Given the description of an element on the screen output the (x, y) to click on. 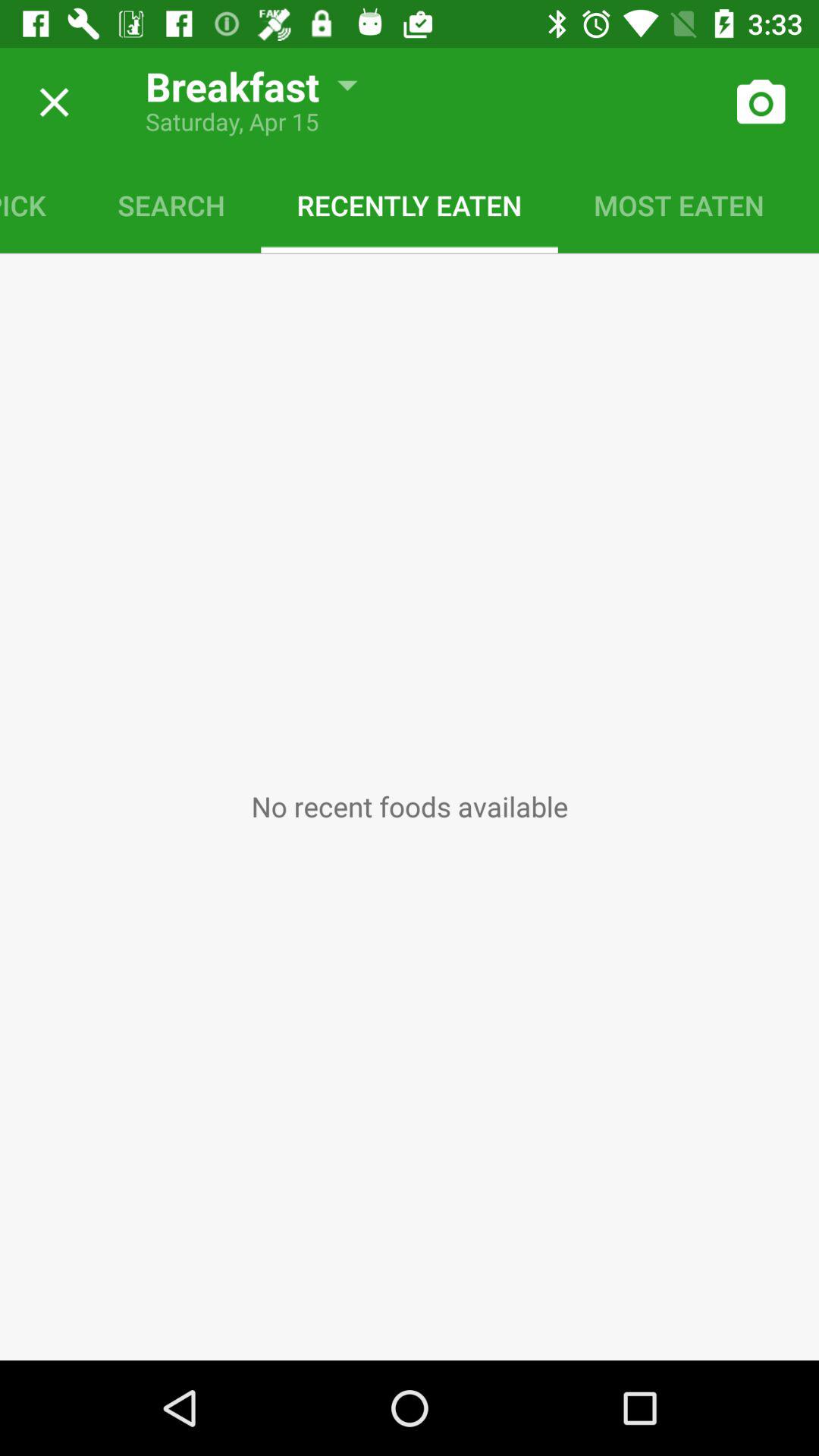
open search item (171, 205)
